Given the description of an element on the screen output the (x, y) to click on. 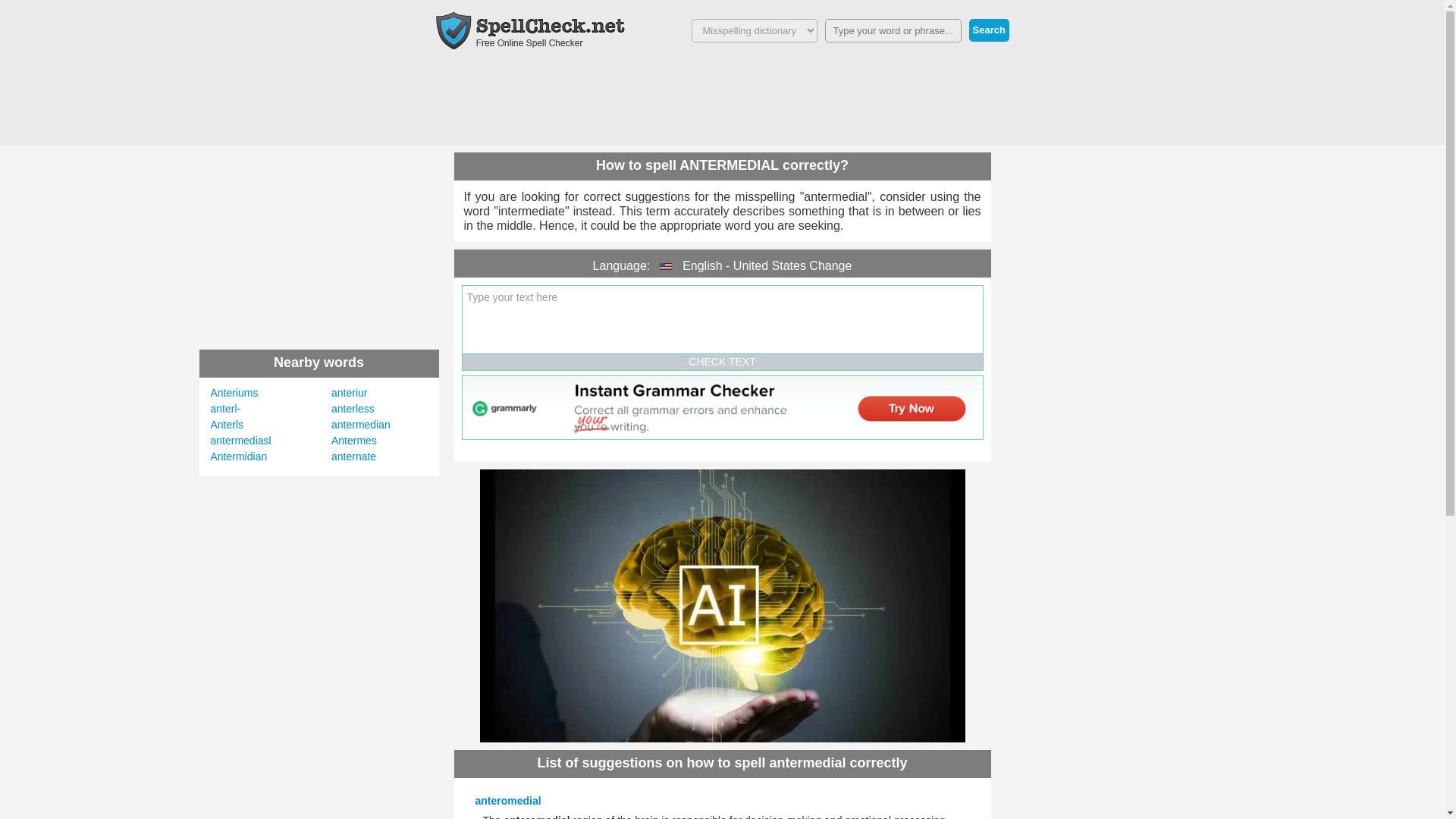
Antermes (354, 440)
antermediasl (240, 440)
Anteriums (235, 392)
anteriur (348, 392)
Search (989, 29)
Anterls (227, 424)
Spellcheck.net (529, 30)
Change (830, 265)
Anteriums (235, 392)
Antermidian (239, 456)
antermedian (360, 424)
anterl- (226, 408)
anternate (353, 456)
anteriur (348, 392)
anterless (352, 408)
